Given the description of an element on the screen output the (x, y) to click on. 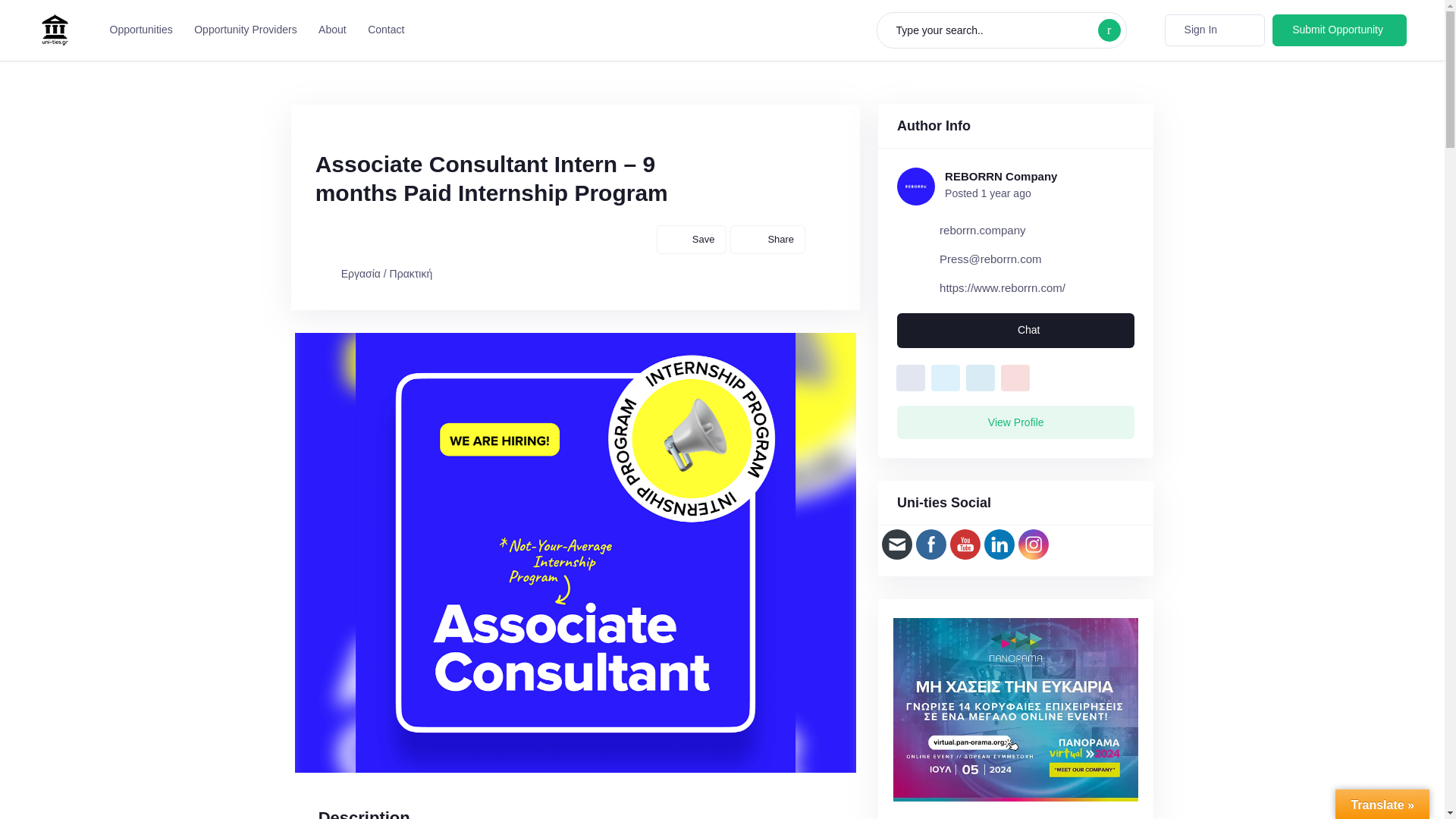
About (328, 30)
Facebook (931, 543)
LinkedIn (999, 543)
Contact (382, 30)
Opportunities (137, 30)
Opportunity Providers (242, 30)
Sign In (1214, 29)
Type your search.. (1001, 30)
Submit Opportunity (1339, 29)
Instagram (1033, 543)
Follow by Email (896, 543)
YouTube (965, 543)
